Given the description of an element on the screen output the (x, y) to click on. 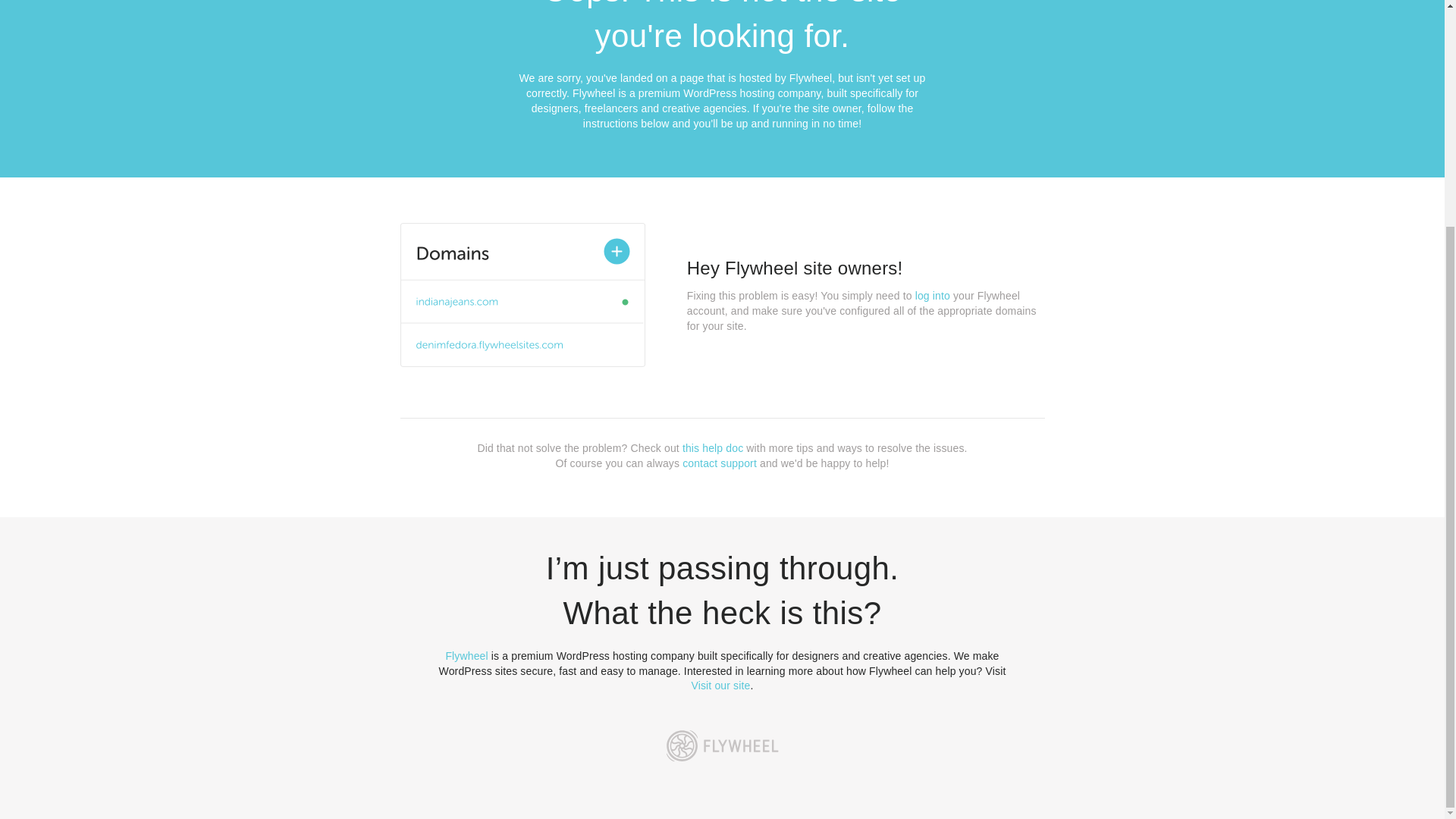
log into (932, 295)
Visit our site (721, 685)
Flywheel (466, 655)
this help doc (712, 448)
contact support (719, 463)
